Given the description of an element on the screen output the (x, y) to click on. 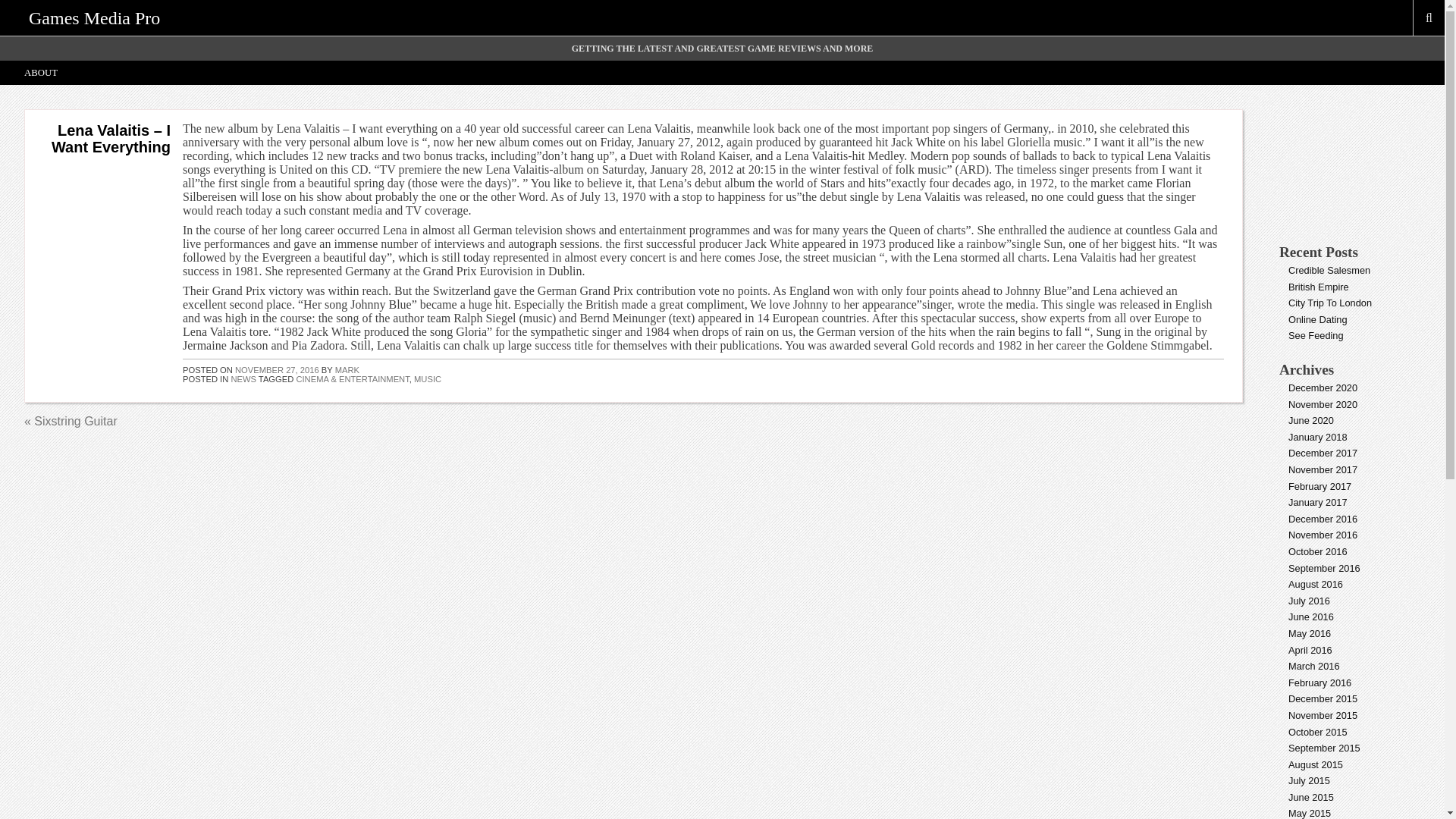
November 2020 (1322, 404)
NOVEMBER 27, 2016 (276, 369)
December 2020 (1322, 387)
ABOUT (41, 72)
July 2015 (1309, 780)
December 2016 (1322, 518)
March 2016 (1313, 665)
July 2016 (1309, 600)
See Feeding (1315, 335)
May 2016 (1309, 633)
